Given the description of an element on the screen output the (x, y) to click on. 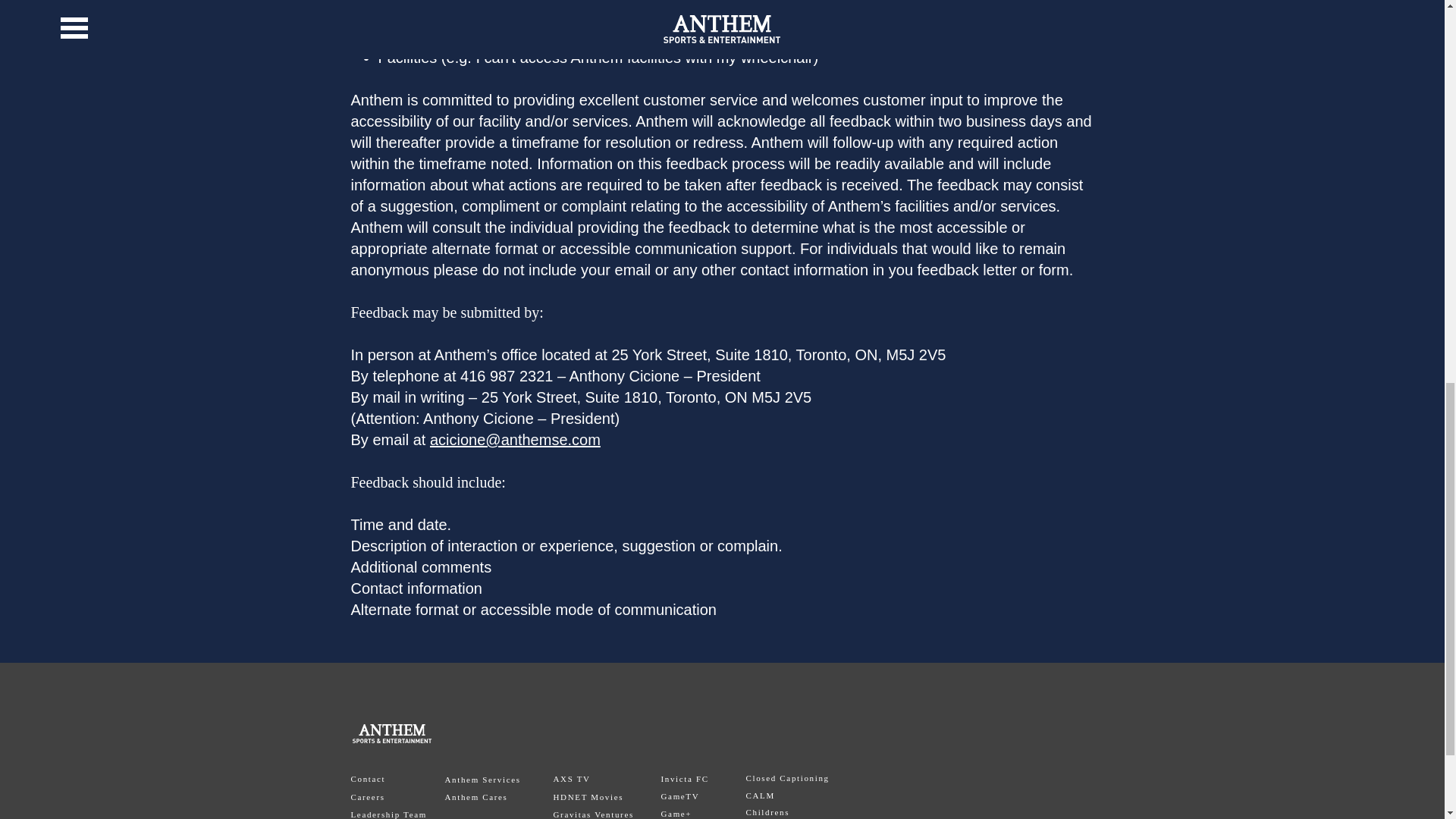
Anthem Cares (475, 796)
Careers (367, 796)
AXS TV (572, 777)
Gravitas Ventures (593, 814)
Childrens (767, 811)
Leadership Team (388, 814)
CALM (759, 795)
HDNET Movies (588, 796)
Invicta FC (685, 777)
GameTV (680, 795)
Anthem Services (481, 778)
Contact (367, 777)
Closed Captioning (787, 777)
